Given the description of an element on the screen output the (x, y) to click on. 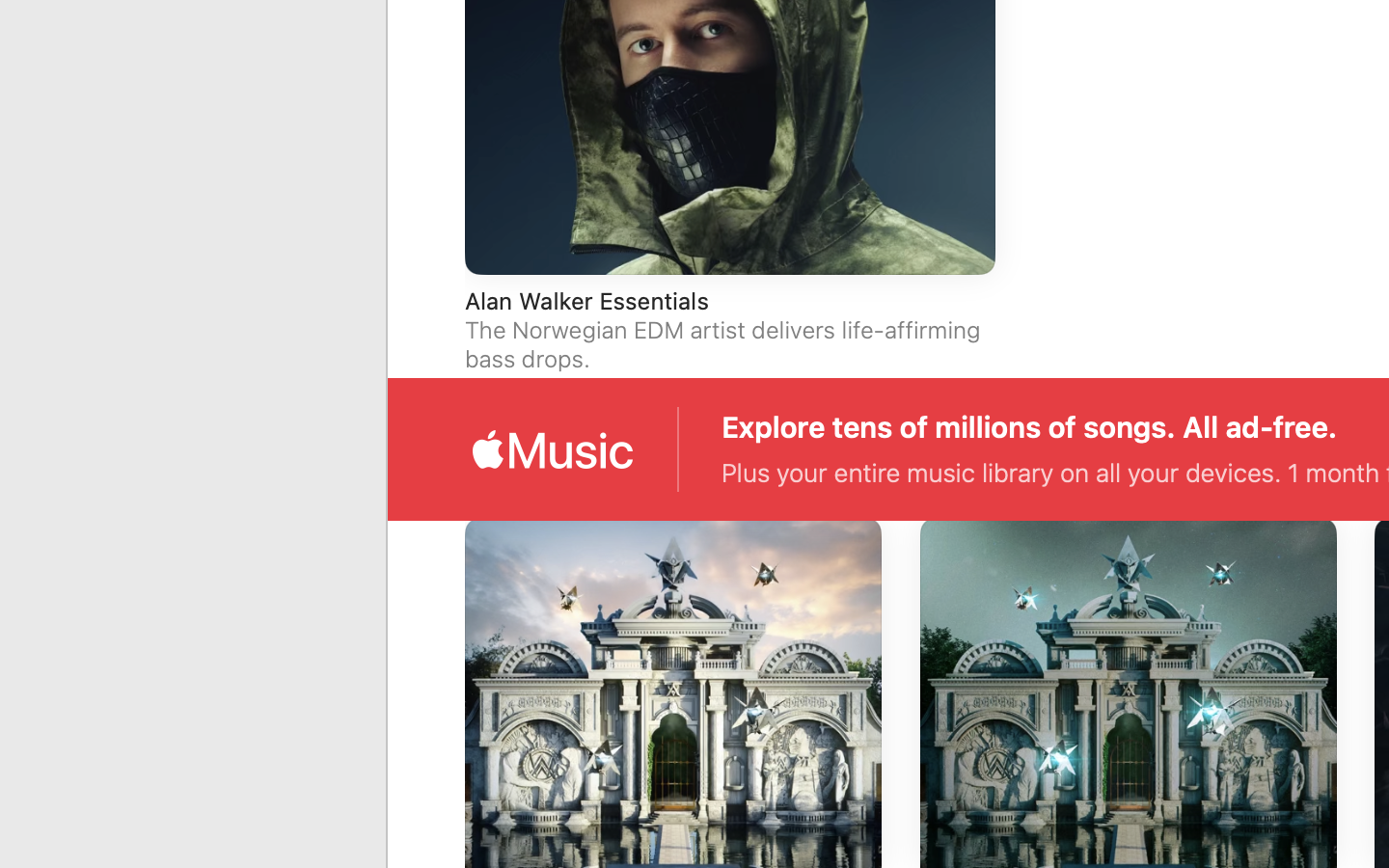
Explore tens of millions of songs. All ad-free. Element type: AXStaticText (1029, 426)
